Given the description of an element on the screen output the (x, y) to click on. 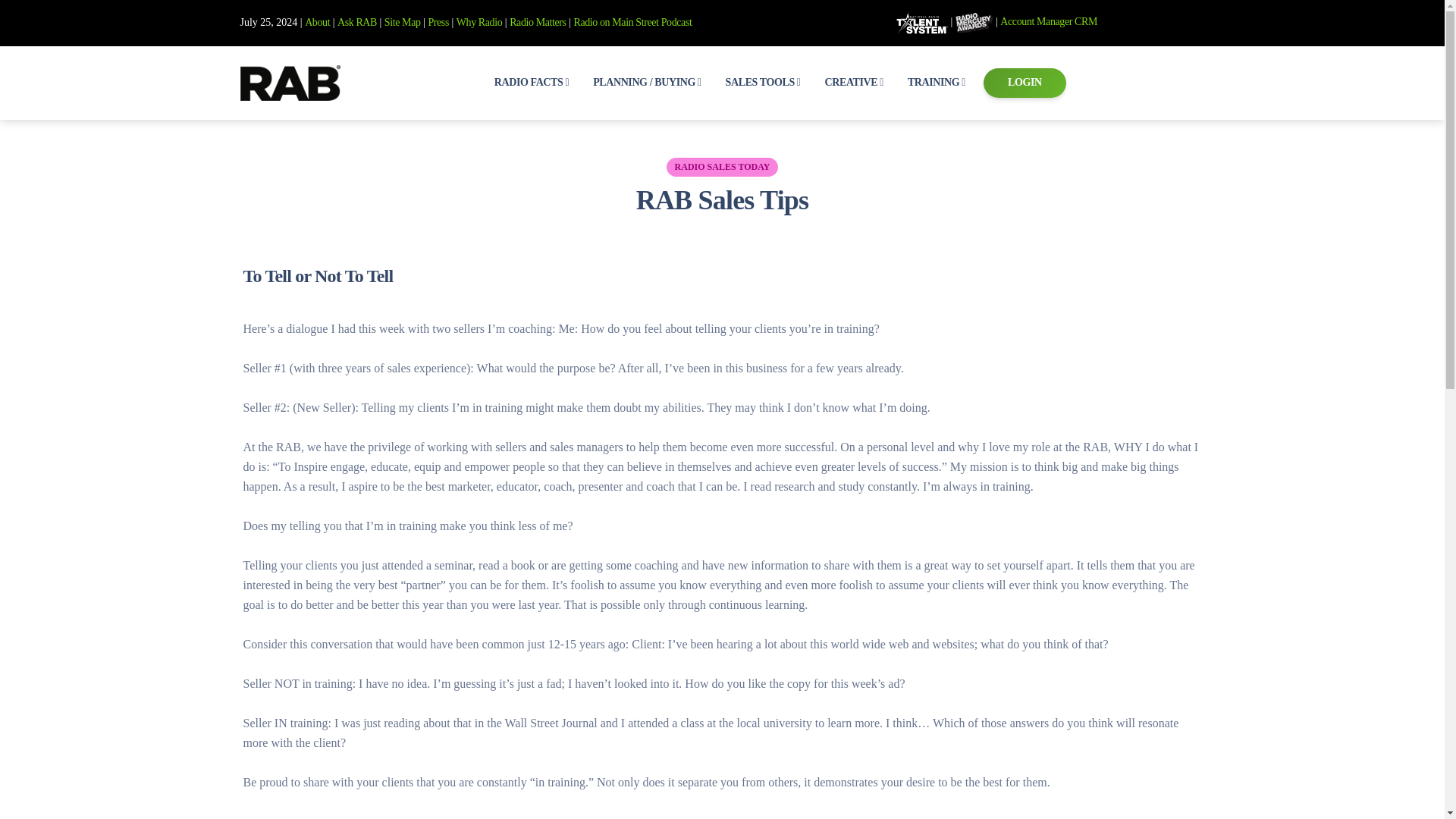
Account Manager CRM (1048, 21)
Radio on Main Street Podcast (632, 21)
Ask RAB (357, 21)
RADIO FACTS (531, 82)
Press (438, 21)
About (317, 21)
Site Map (402, 21)
Radio Matters (537, 21)
Why Radio (479, 21)
